Given the description of an element on the screen output the (x, y) to click on. 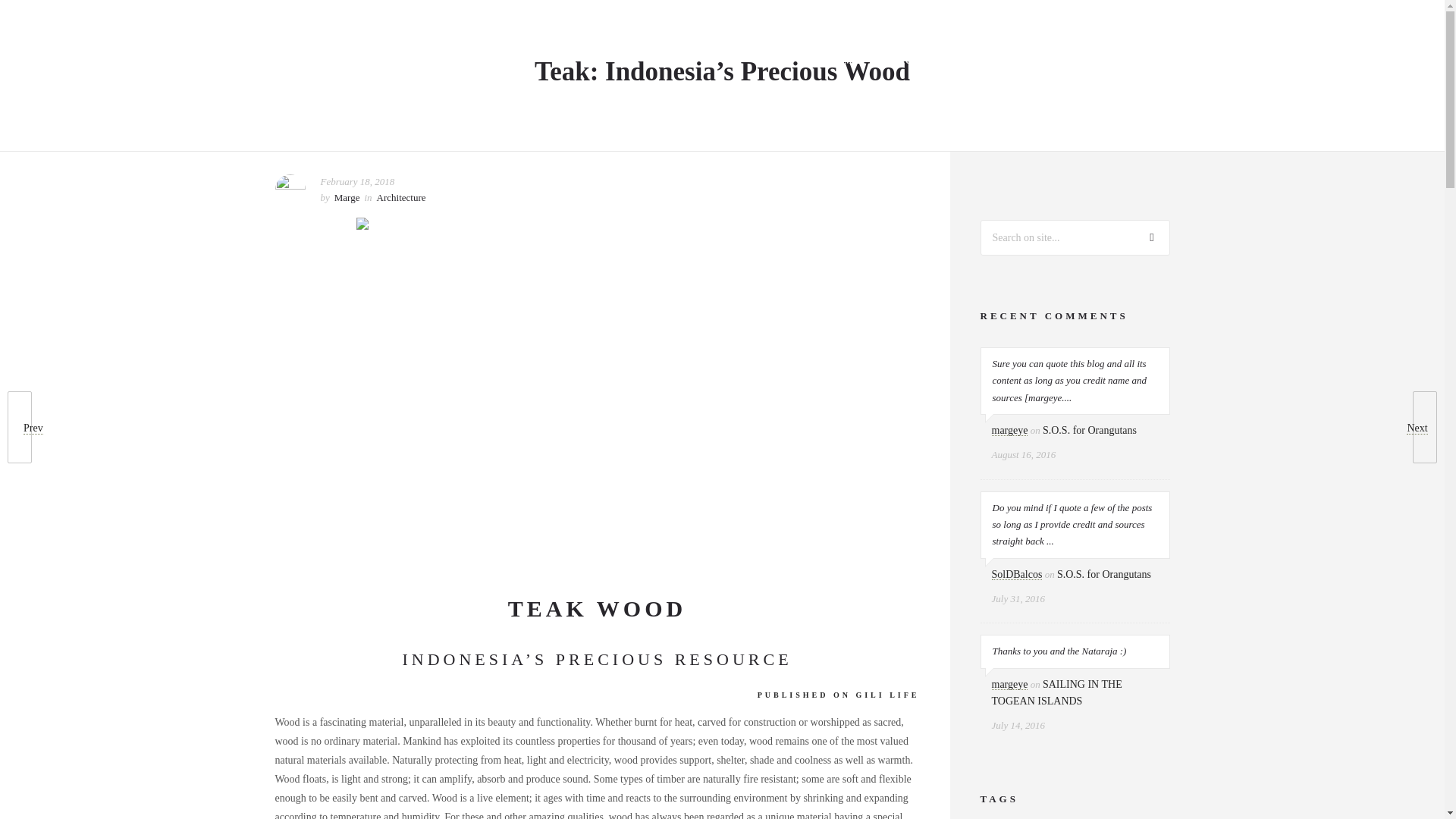
LinkedIN (1372, 16)
S.O.S. for Orangutans (1104, 573)
Search (1152, 237)
ABOUT (909, 60)
SERVICES (985, 60)
Instagram (1338, 16)
Twitter (1405, 16)
READ ME (1161, 60)
S.O.S. for Orangutans (1089, 430)
PORTFOLIO (1074, 60)
SAILING IN THE TOGEAN ISLANDS (1056, 692)
HOME (844, 60)
